Given the description of an element on the screen output the (x, y) to click on. 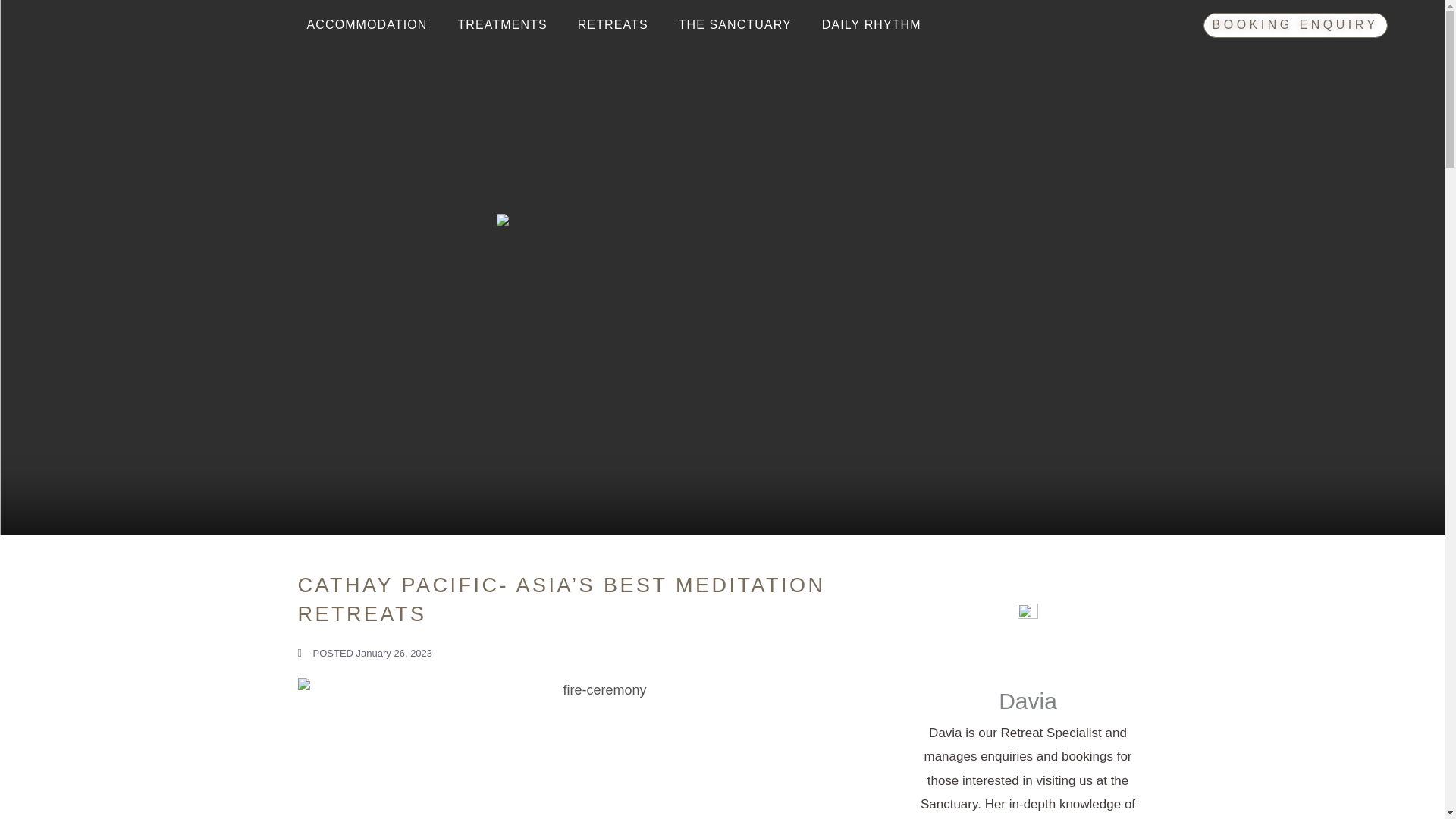
THE SANCTUARY (734, 24)
RETREATS (612, 24)
DAILY RHYTHM (871, 24)
Fire Ceremony (598, 748)
BOOKING ENQUIRY (1295, 25)
Davia (1027, 701)
ACCOMMODATION (367, 24)
TREATMENTS (502, 24)
